Given the description of an element on the screen output the (x, y) to click on. 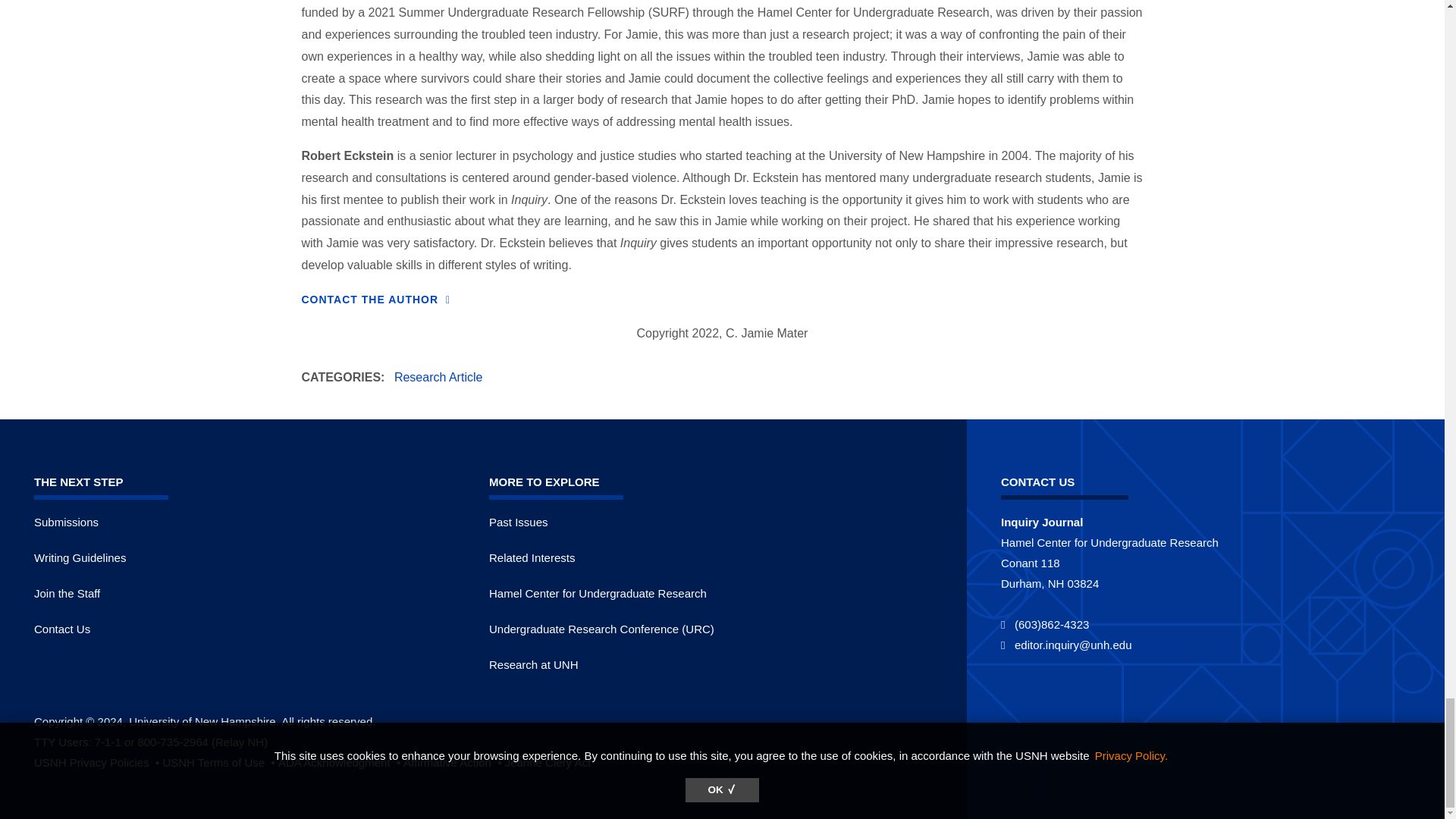
Learn (548, 762)
Contact Us (61, 628)
Research Article (438, 377)
Contact Us (376, 299)
Submissions (66, 521)
Contact Us (61, 628)
Related Interests (532, 557)
Submissions (66, 521)
Join the Staff (66, 593)
Hamel Center for Undergraduate Research (597, 593)
Learn (97, 762)
Related Interests (532, 557)
Learn (219, 762)
Join the Staff (66, 593)
Archive (518, 521)
